Given the description of an element on the screen output the (x, y) to click on. 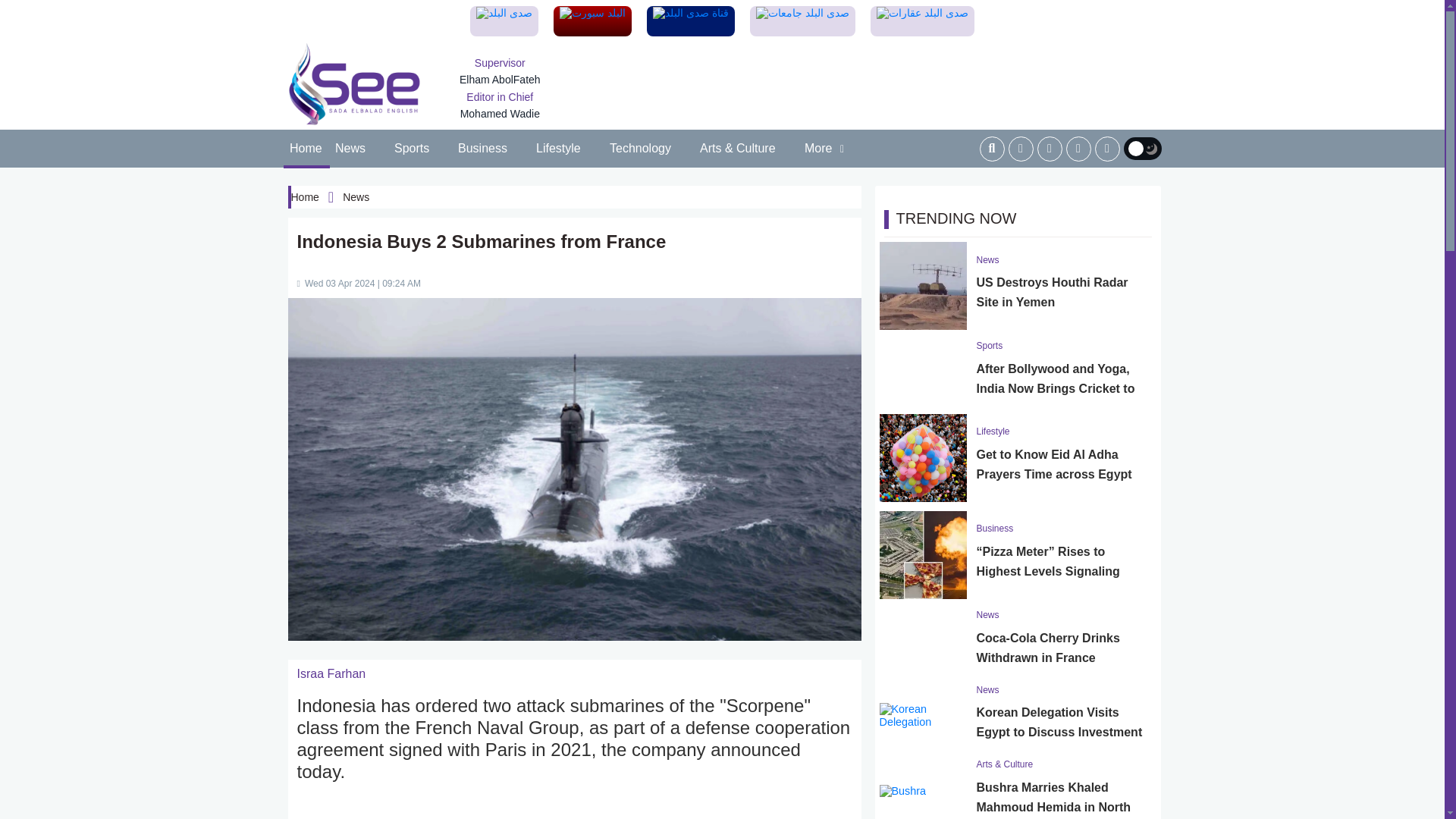
News (350, 148)
More (824, 148)
News (350, 148)
Technology (641, 148)
Technology (641, 148)
Sports (412, 148)
Lifestyle (558, 148)
Home (306, 148)
Business (483, 148)
Lifestyle (558, 148)
